Given the description of an element on the screen output the (x, y) to click on. 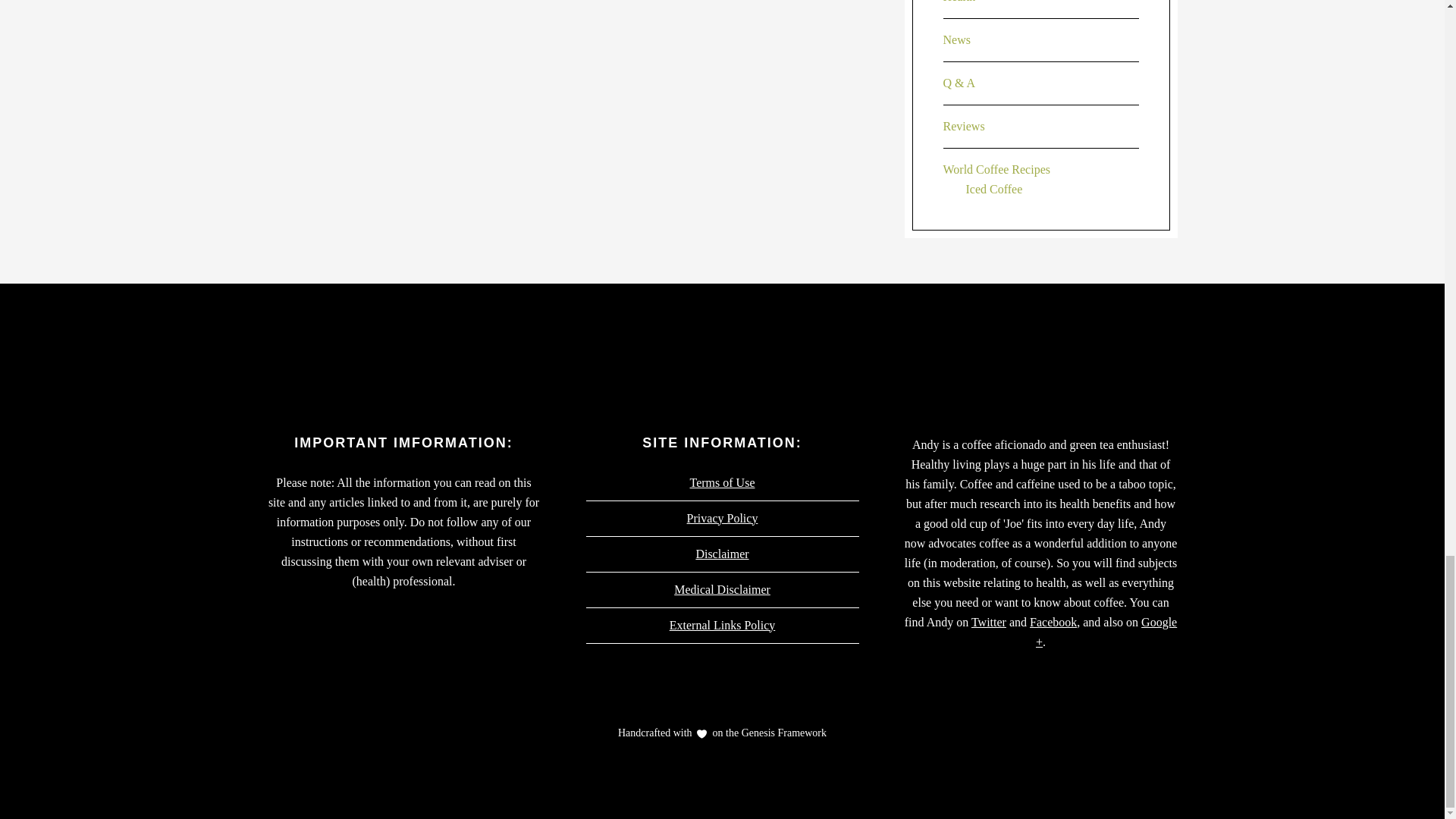
Health (959, 1)
News (957, 39)
